Given the description of an element on the screen output the (x, y) to click on. 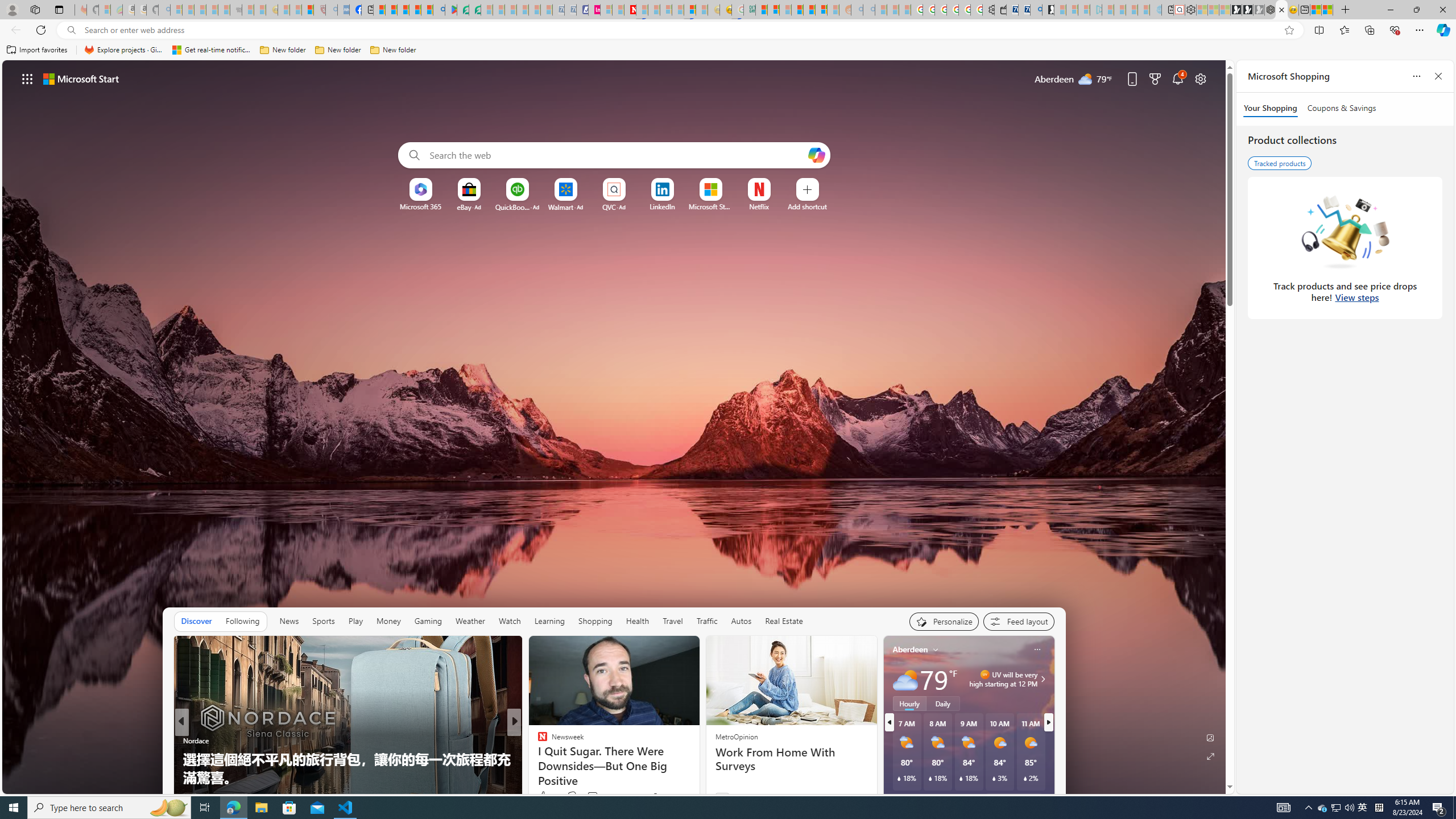
View comments 134 Comment (589, 797)
Netflix (758, 206)
Learning (549, 621)
Gaming (428, 621)
411 Like (545, 796)
View comments 96 Comment (594, 796)
1k Like (546, 795)
